Given the description of an element on the screen output the (x, y) to click on. 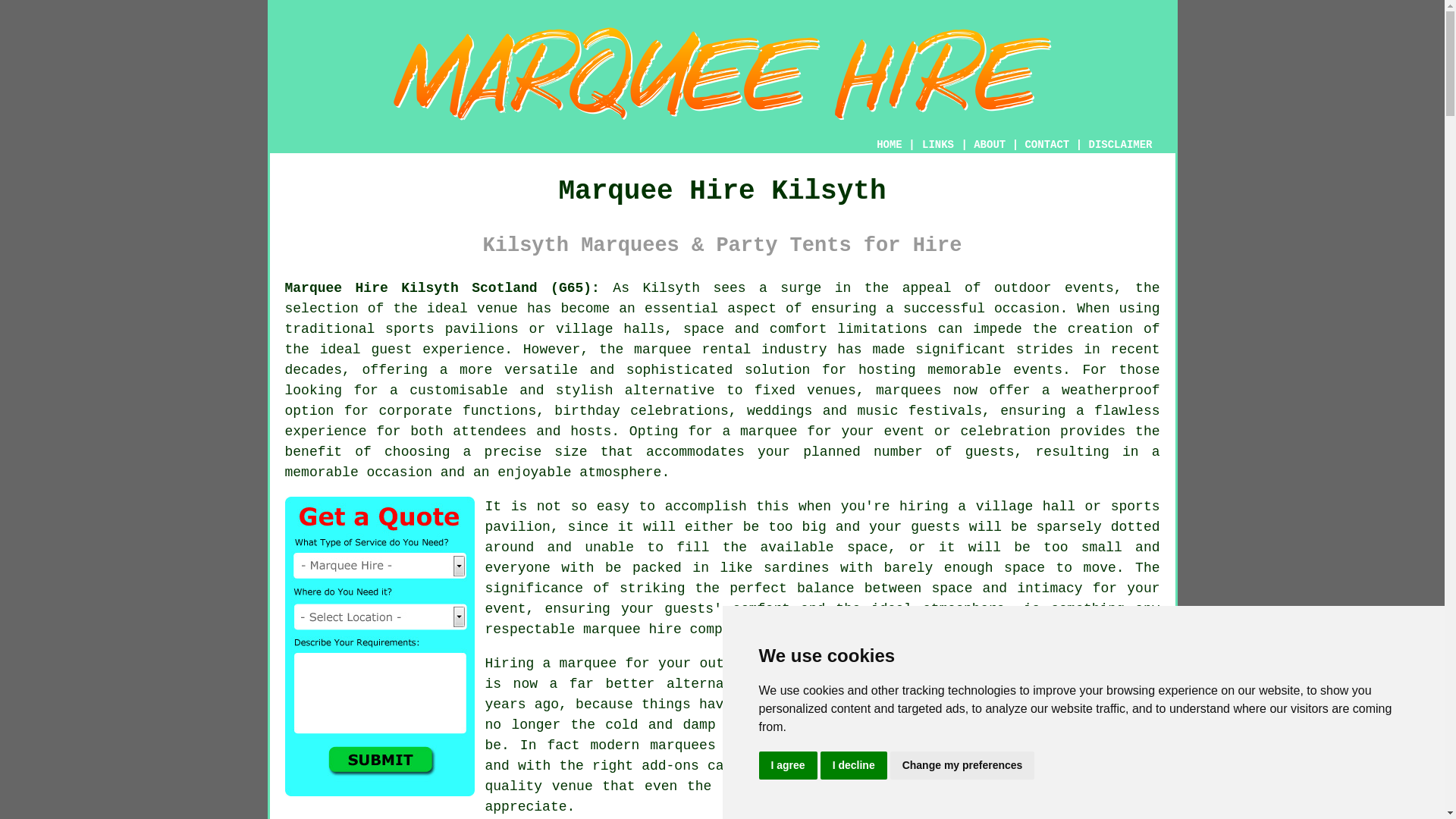
LINKS (938, 144)
I decline (853, 765)
HOME (889, 144)
Marquee Hire Kilsyth (722, 73)
marquees (908, 390)
I agree (787, 765)
Change my preferences (962, 765)
